Given the description of an element on the screen output the (x, y) to click on. 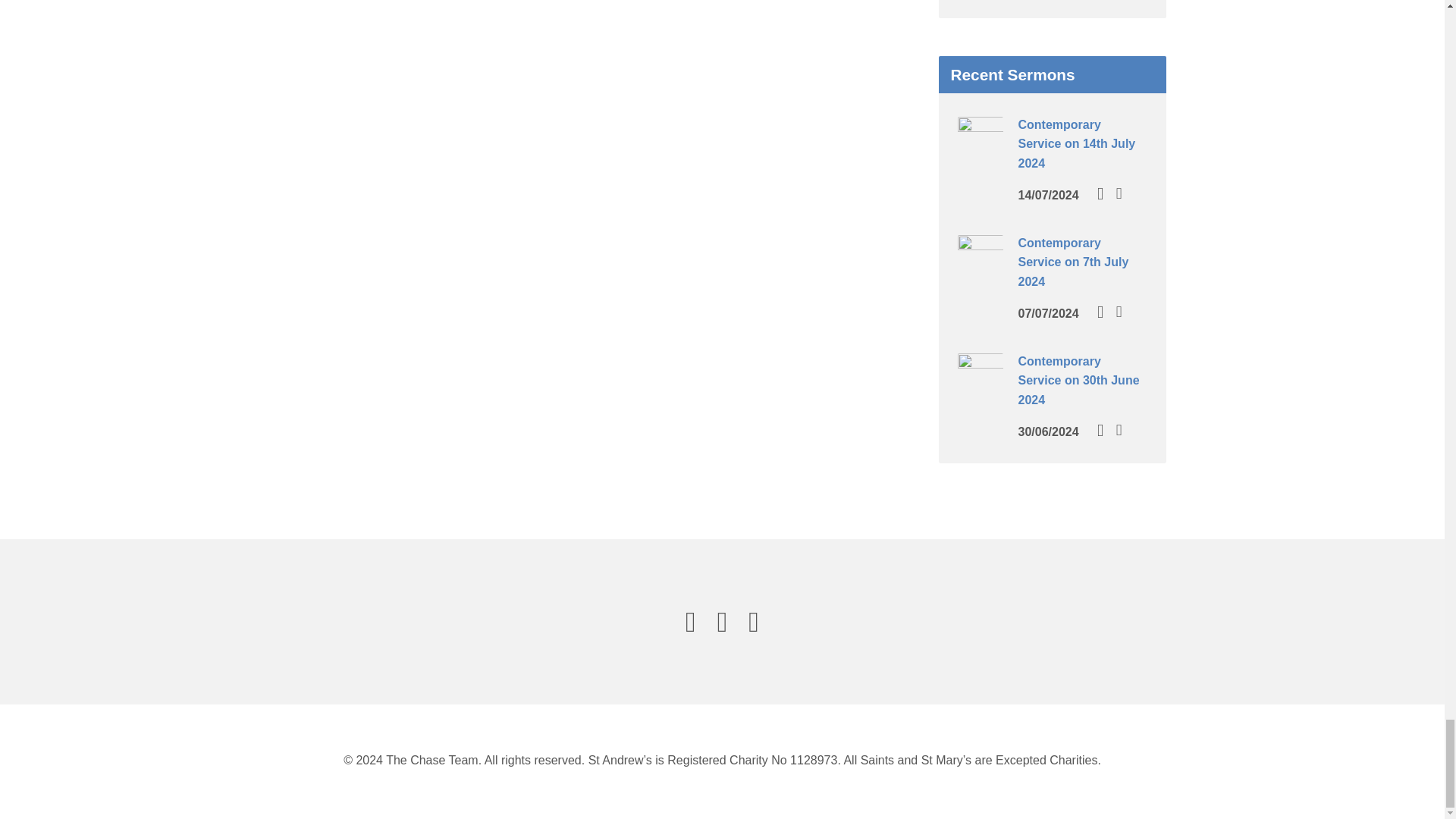
Contemporary Service on 14th July 2024 (1076, 143)
Contemporary Service on 7th July 2024 (979, 269)
Contemporary Service on 7th July 2024 (1072, 262)
Contemporary Service on 14th July 2024 (979, 151)
